Given the description of an element on the screen output the (x, y) to click on. 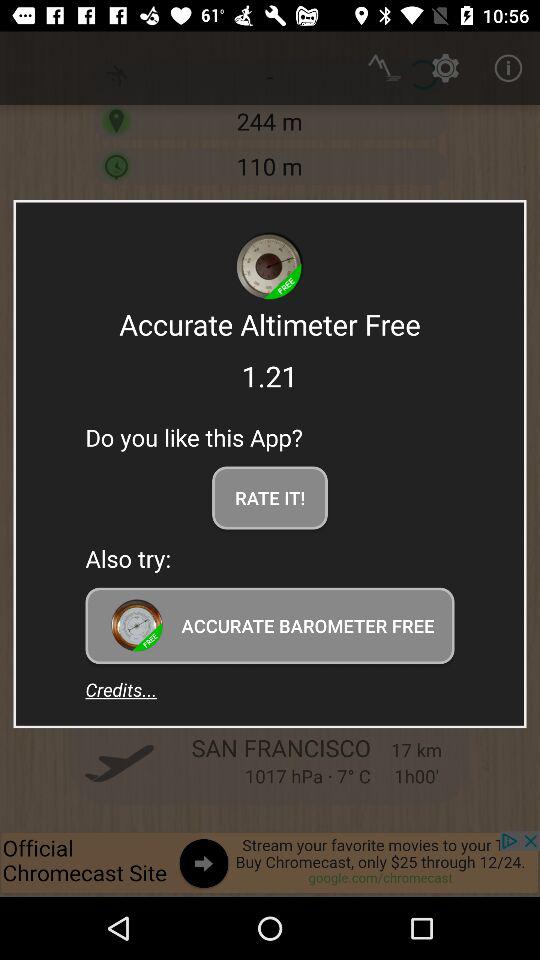
click the app below do you like (269, 497)
